Given the description of an element on the screen output the (x, y) to click on. 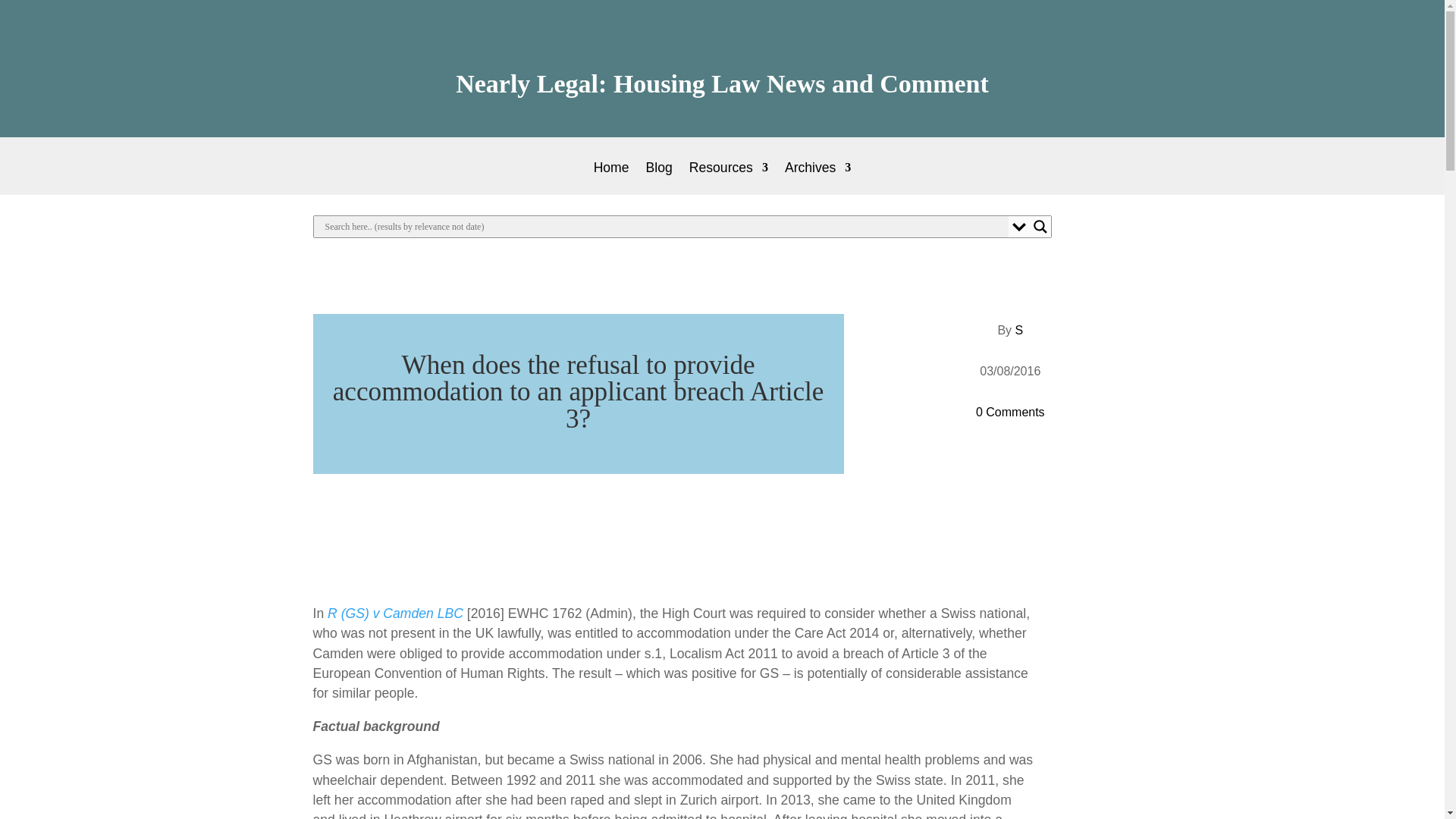
Home (611, 178)
Resources (728, 178)
Archives (817, 178)
